Given the description of an element on the screen output the (x, y) to click on. 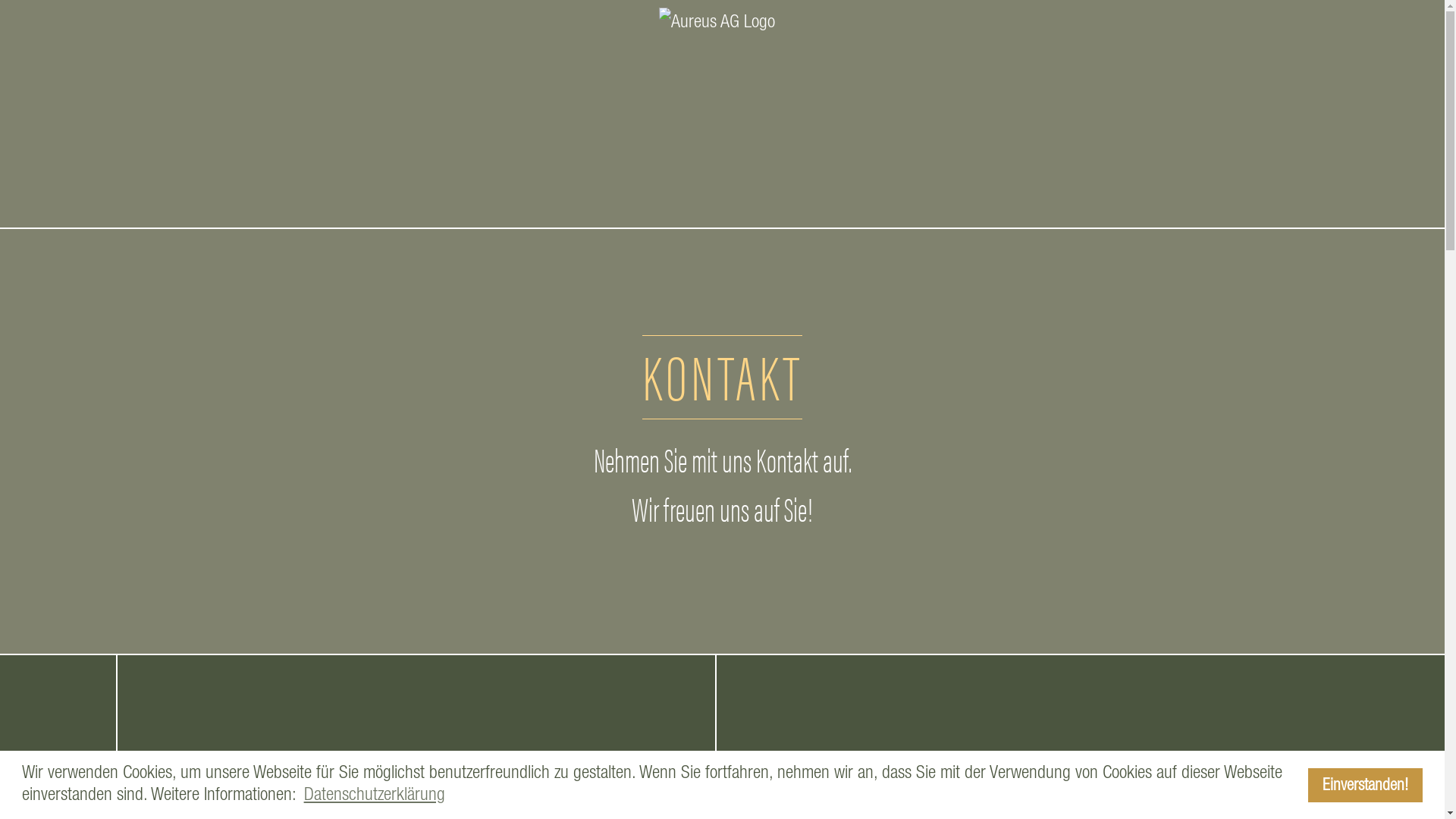
Home Element type: hover (716, 113)
Einverstanden! Element type: text (1365, 785)
